Given the description of an element on the screen output the (x, y) to click on. 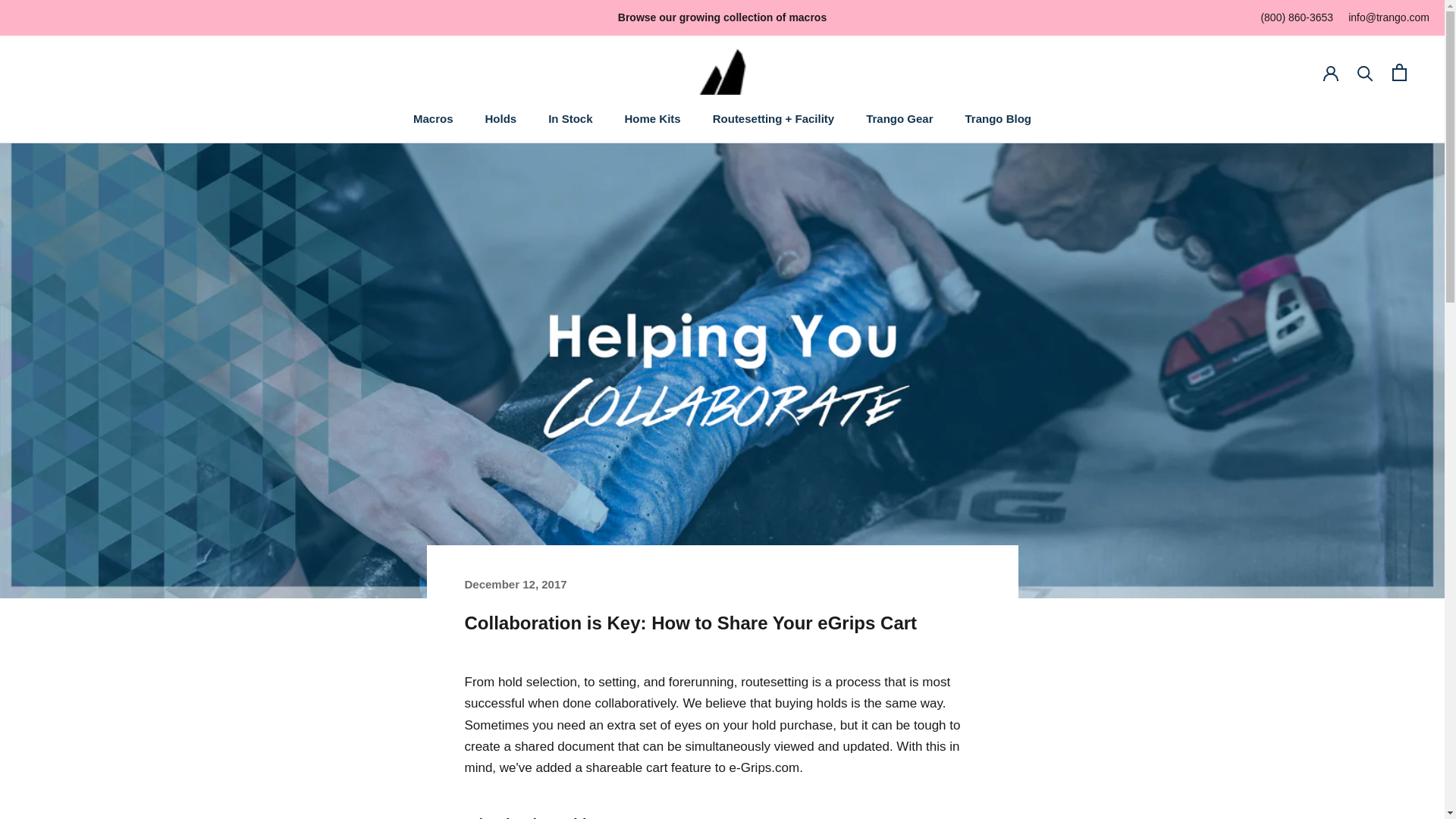
Browse our growing collection of macros (722, 17)
Trango Blog (899, 118)
Holds (432, 118)
